Given the description of an element on the screen output the (x, y) to click on. 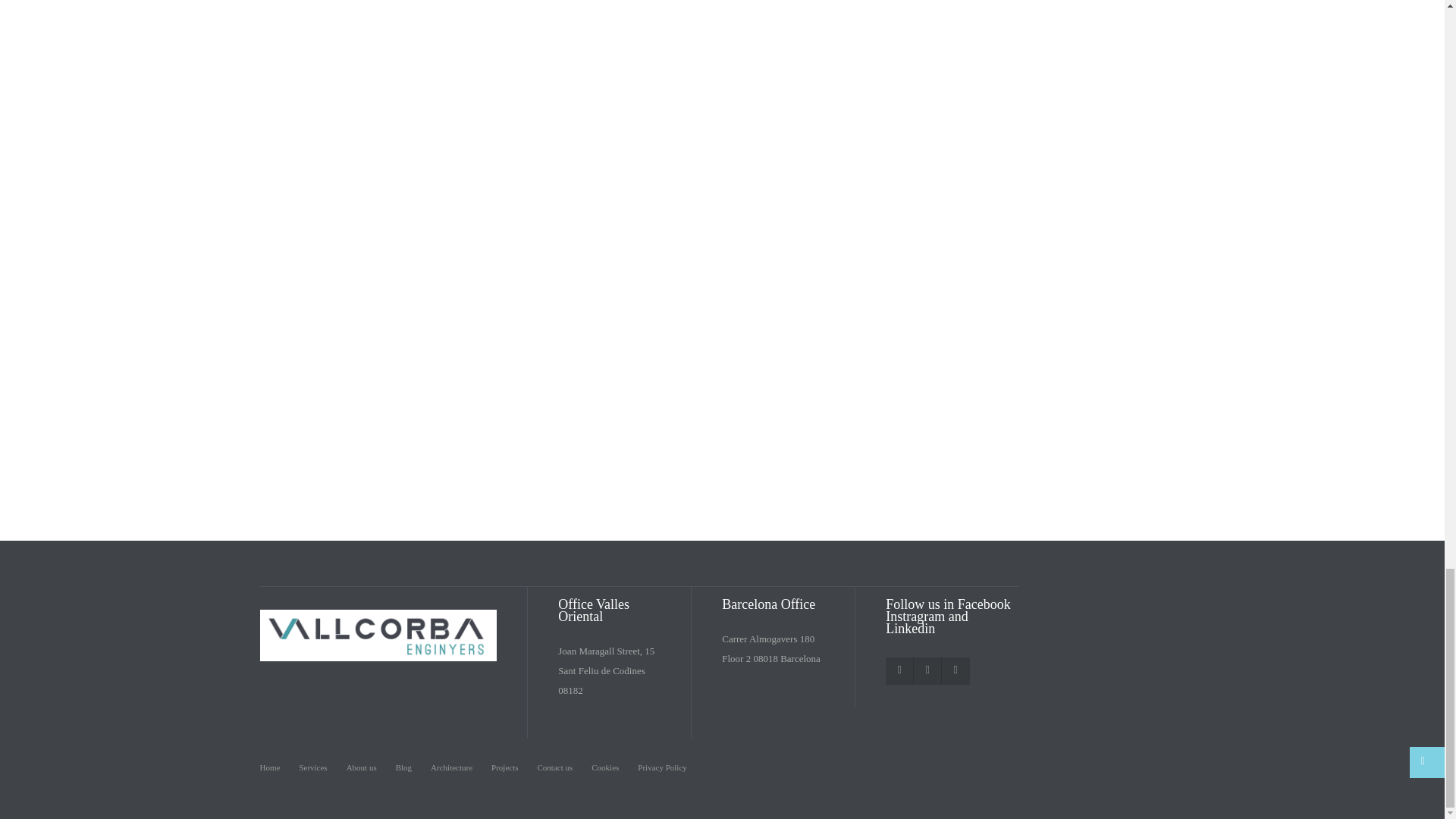
Instagram (927, 670)
LinkedIn (954, 670)
Facebook (899, 670)
